Given the description of an element on the screen output the (x, y) to click on. 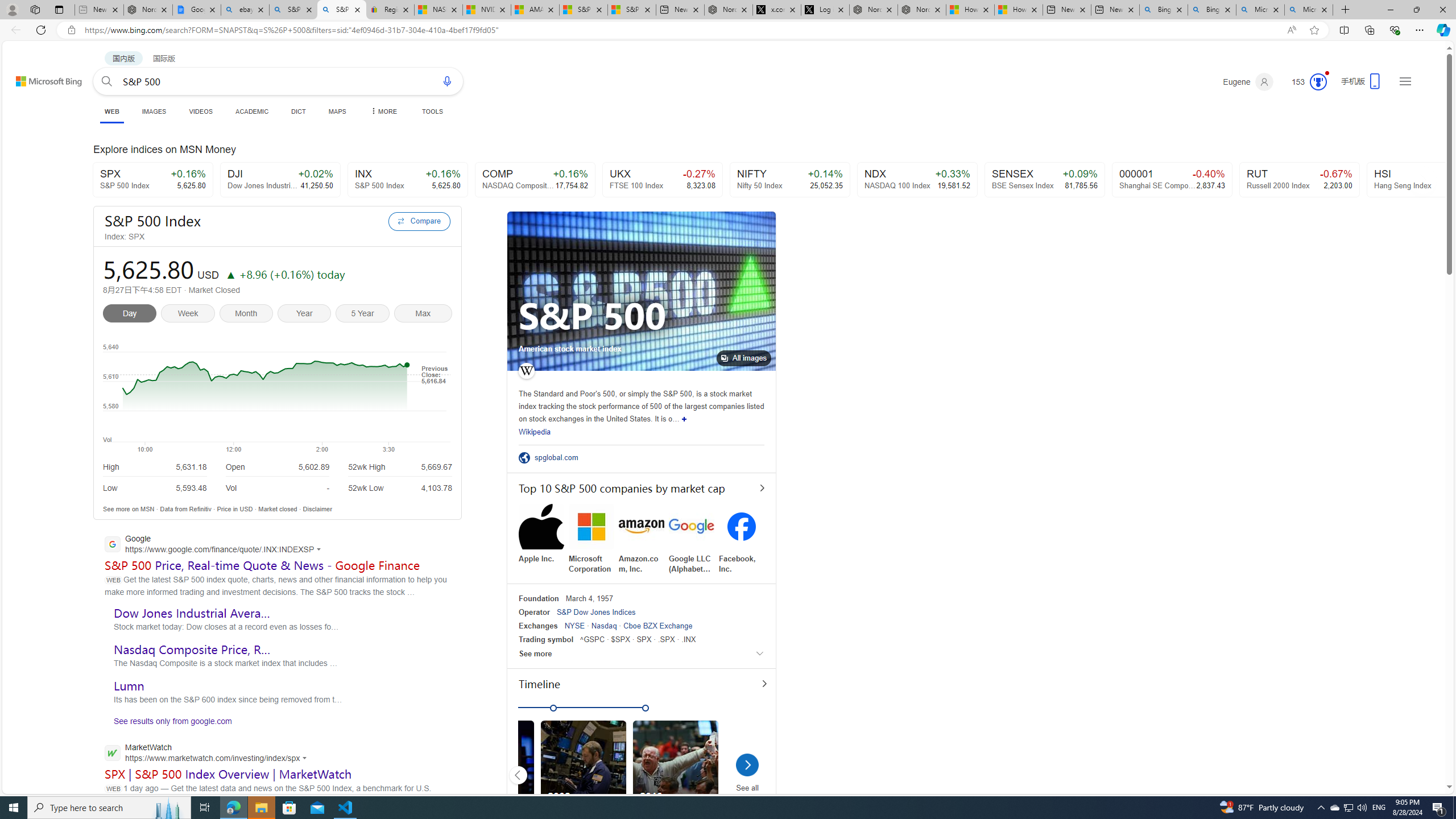
Apple Inc. (541, 533)
x.com/NordaceOfficial (777, 9)
Google LLC (Alphabet Inc.) (691, 538)
INX +0.16% S&P 500 Index 5,625.80 (407, 179)
Show more (684, 418)
S&P Dow Jones Indices (596, 611)
Amazon.com, Inc. (640, 538)
Disclaimer (316, 508)
Timeline (647, 686)
SPX +0.16% S&P 500 Index 5,625.80 (152, 179)
